Given the description of an element on the screen output the (x, y) to click on. 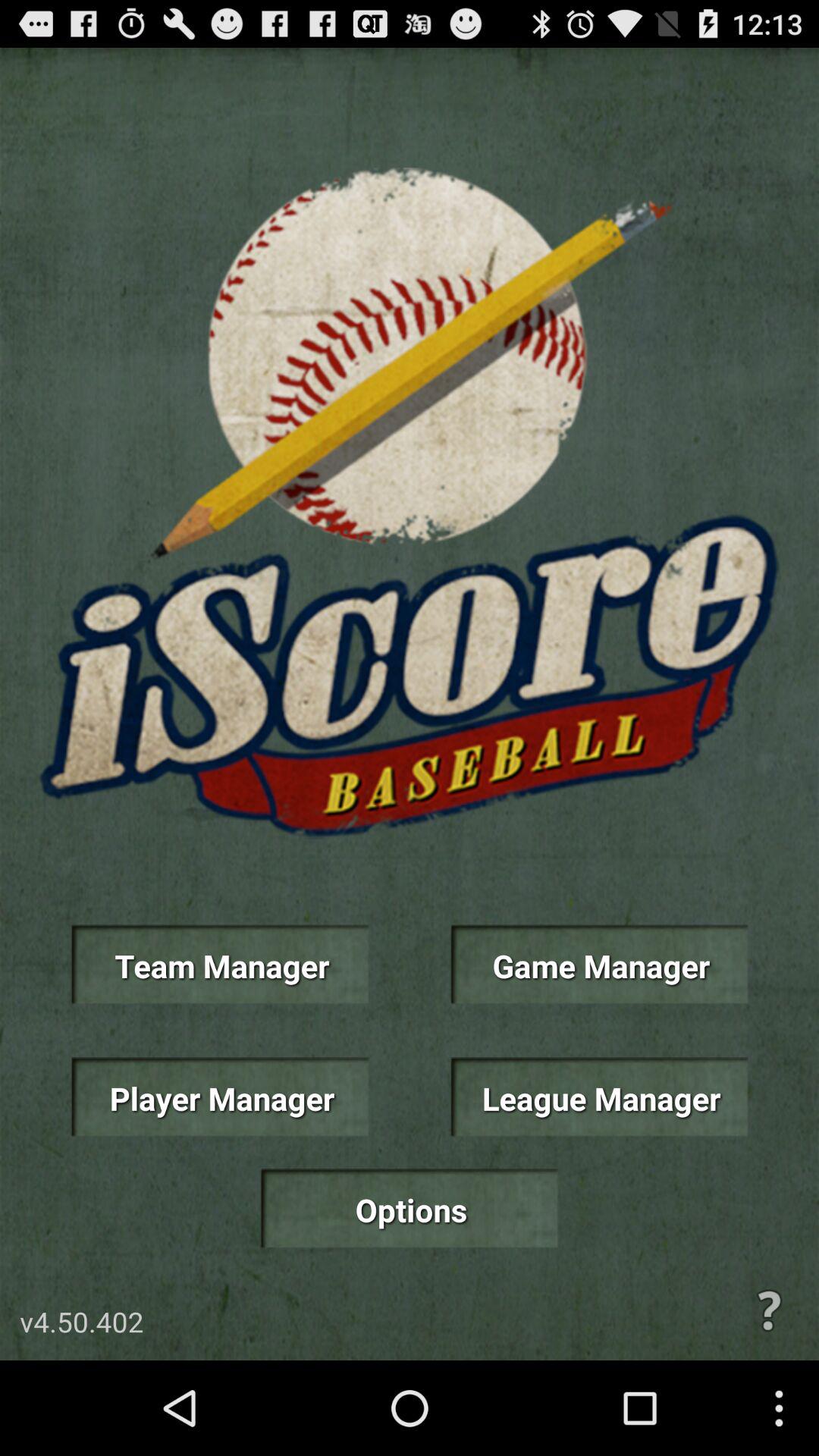
press item next to game manager icon (219, 964)
